Given the description of an element on the screen output the (x, y) to click on. 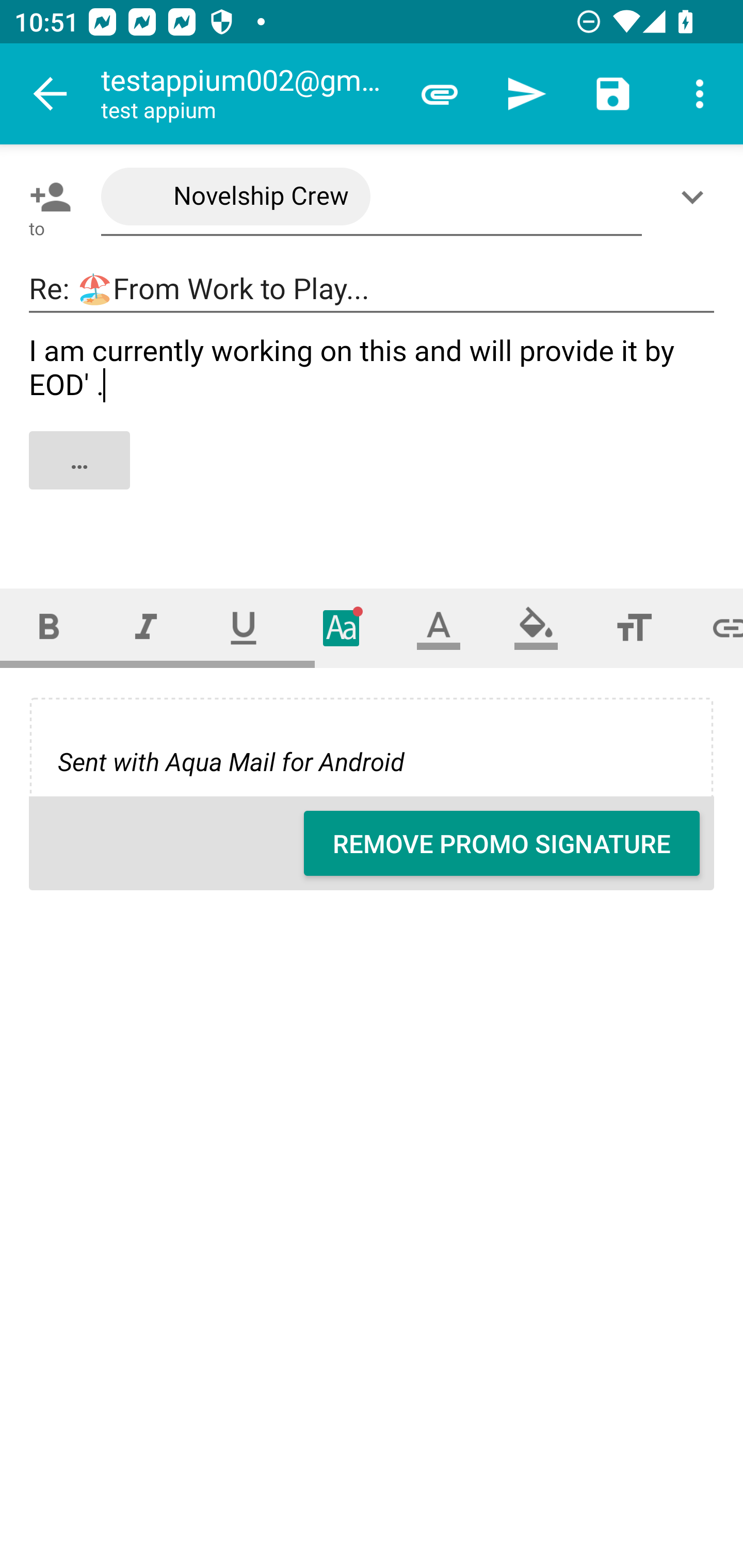
Navigate up (50, 93)
testappium002@gmail.com test appium (248, 93)
Attach (439, 93)
Send (525, 93)
Save (612, 93)
More options (699, 93)
Novelship Crew <crew@email.novelship.com>,  (371, 197)
Pick contact: To (46, 196)
Show/Add CC/BCC (696, 196)
Re: 🏖️From Work to Play... (371, 288)
Bold (48, 627)
Italic (145, 627)
Underline (243, 627)
Typeface (font) (341, 627)
Text color (438, 627)
Fill color (536, 627)
Font size (633, 627)
Set link (712, 627)
REMOVE PROMO SIGNATURE (501, 843)
